Given the description of an element on the screen output the (x, y) to click on. 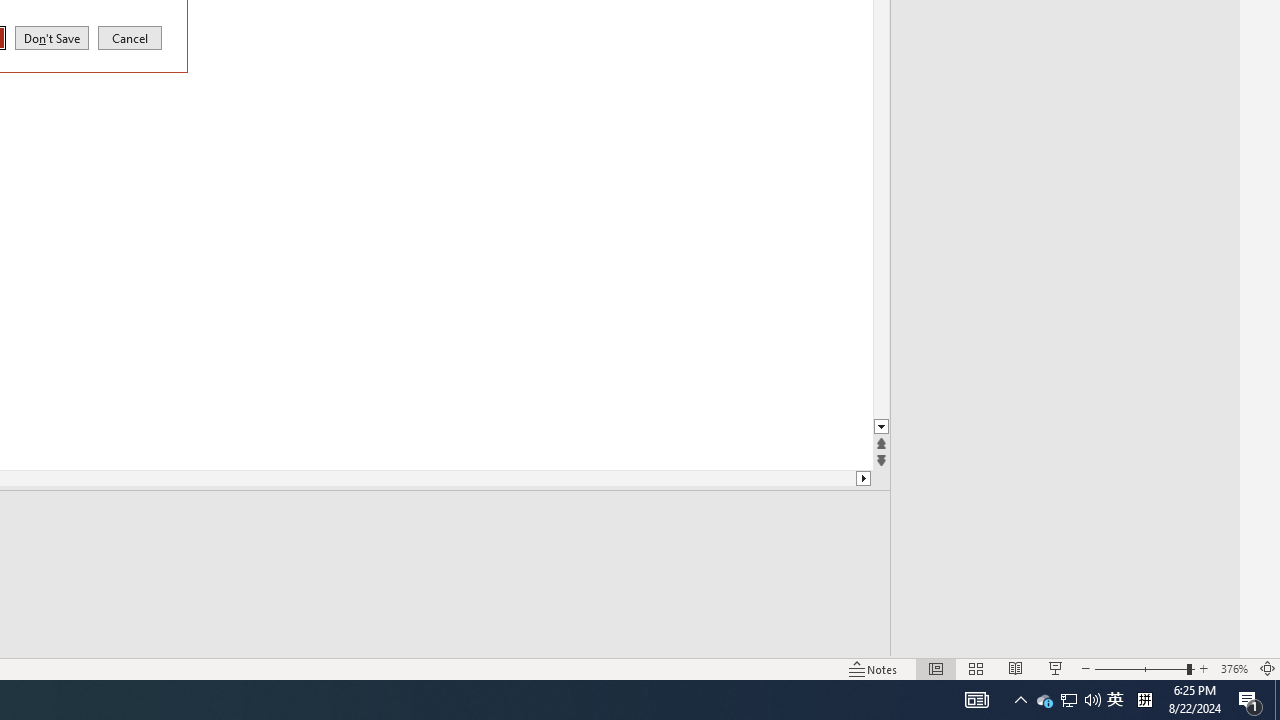
Action Center, 1 new notification (1250, 699)
Cancel (130, 37)
